Given the description of an element on the screen output the (x, y) to click on. 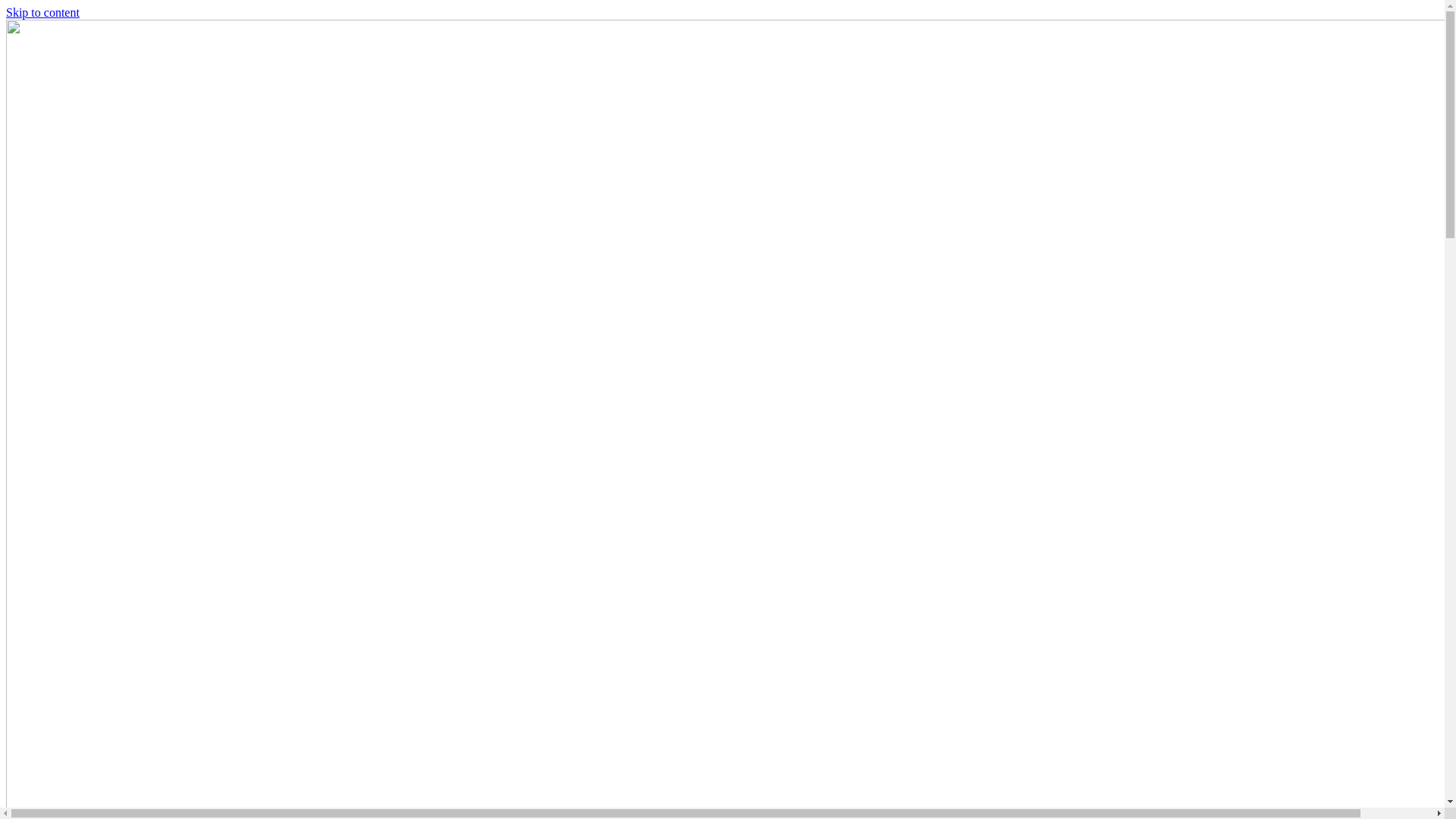
Skip to content Element type: text (42, 12)
